Given the description of an element on the screen output the (x, y) to click on. 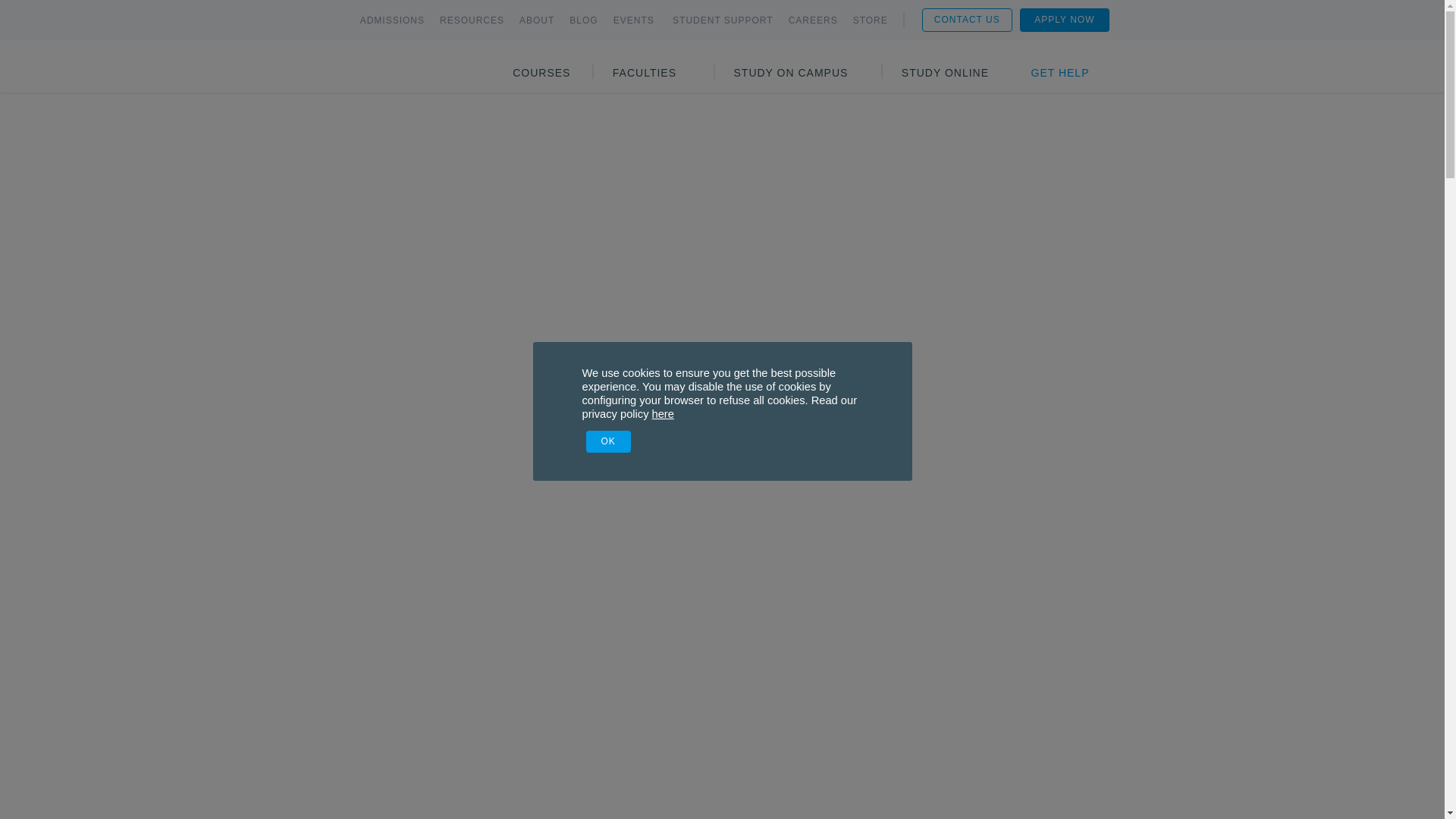
EVENTS  (635, 19)
STUDY ON CAMPUS (790, 72)
COURSES (541, 72)
ABOUT (536, 19)
FACULTIES (644, 72)
ADMISSIONS (392, 19)
CONTACT US (966, 19)
STUDY ONLINE (945, 72)
STUDENT SUPPORT (722, 19)
BLOG (582, 19)
